Given the description of an element on the screen output the (x, y) to click on. 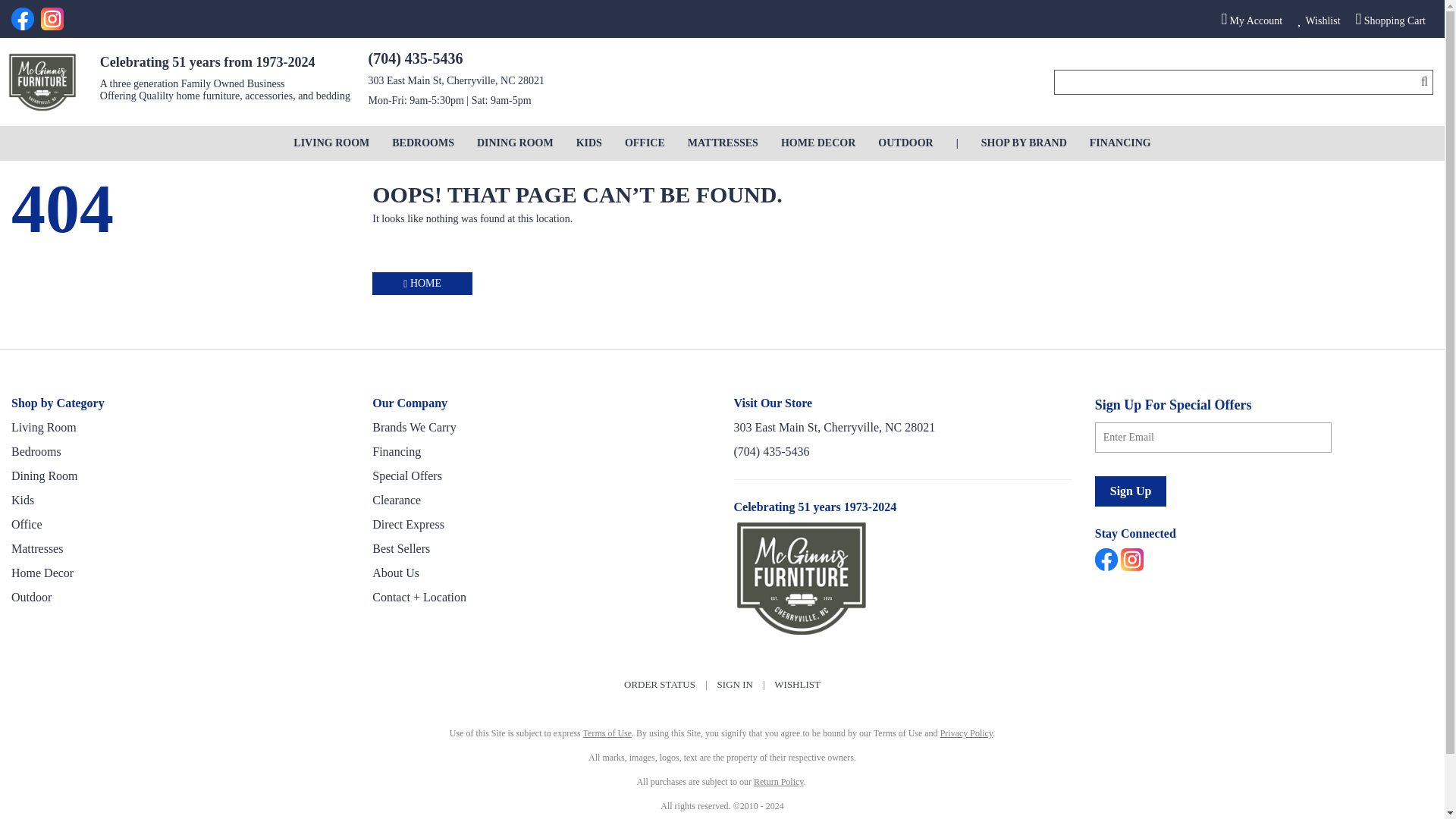
Shopping Cart (1390, 19)
Sign Up (1130, 490)
Instagram (53, 18)
Living Room (331, 143)
LIVING ROOM (331, 143)
303 East Main St, Cherryville, NC 28021 (456, 80)
Wishlist (1319, 19)
Facebook (24, 18)
My Account (1251, 19)
Shopping Cart (1390, 19)
McGinnis Furniture (42, 81)
My Account (1251, 19)
Wishlist (1319, 19)
BEDROOMS (422, 143)
